Given the description of an element on the screen output the (x, y) to click on. 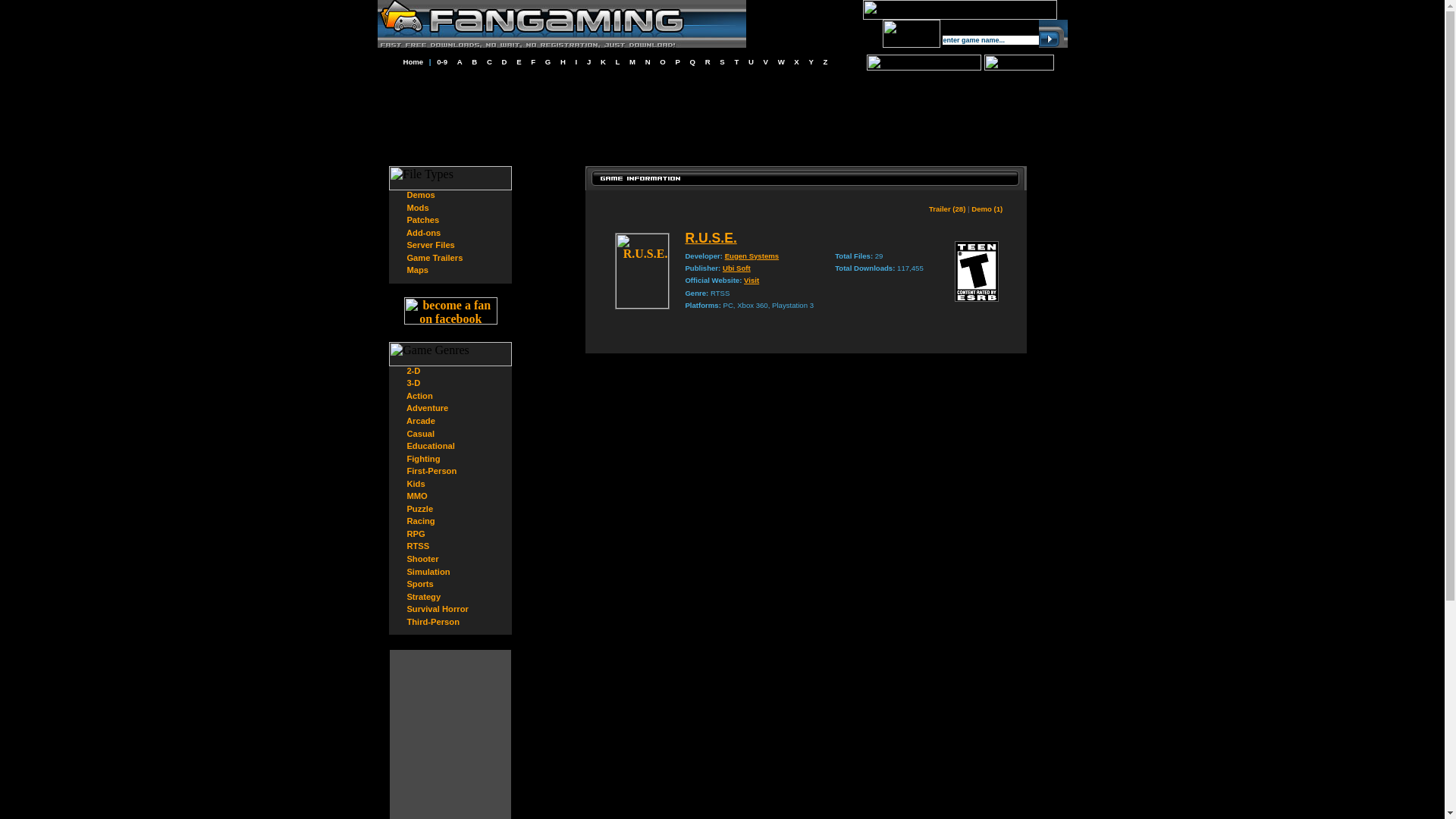
Game Trailers (434, 257)
Mods (417, 207)
Home (413, 61)
enter game name... (990, 40)
enter game name... (990, 40)
enter game name... (990, 40)
Add-ons (423, 232)
Demos (419, 194)
Maps (417, 269)
Server Files (430, 244)
